Given the description of an element on the screen output the (x, y) to click on. 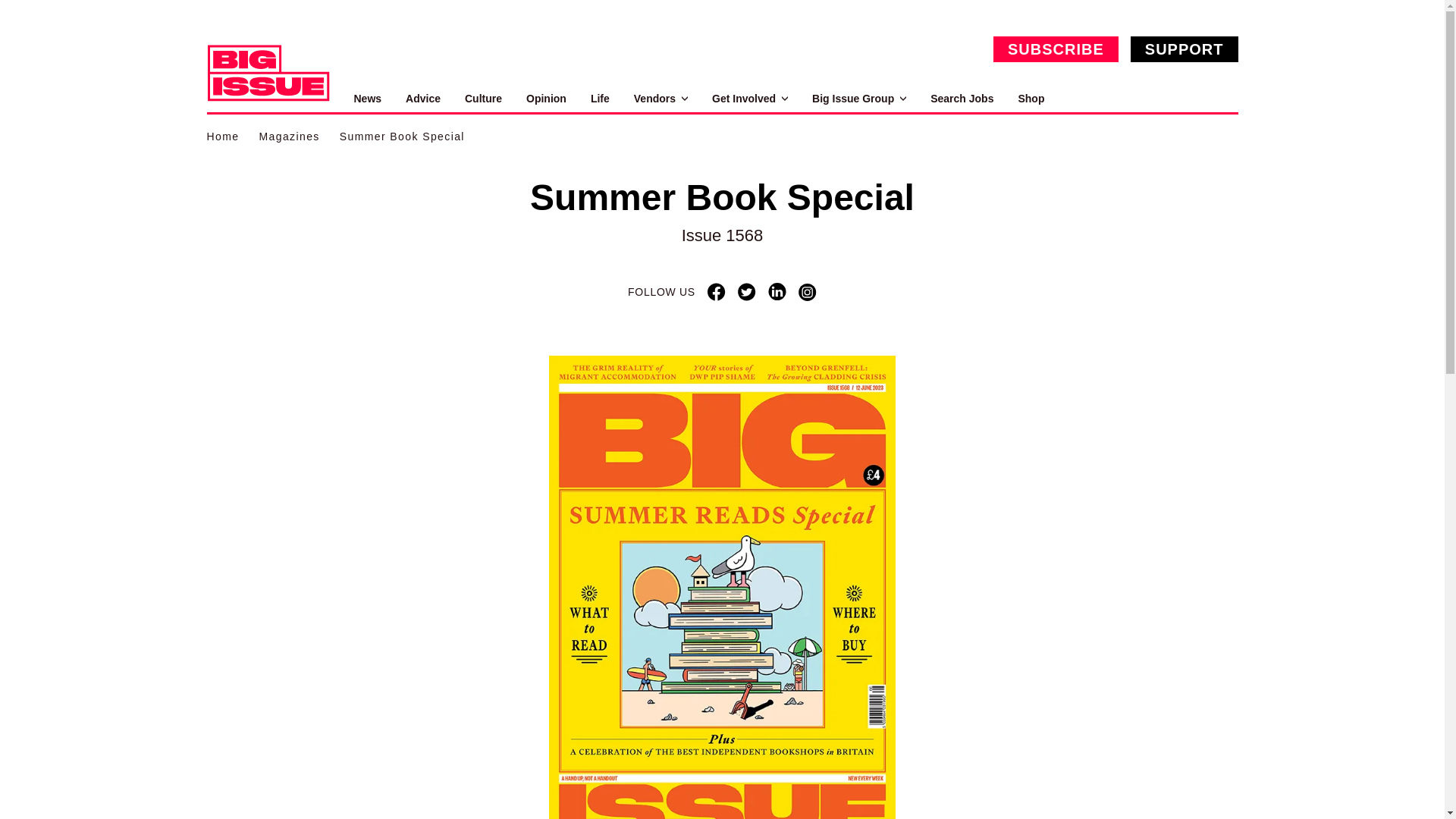
Big Issue Group (858, 98)
Opinion (545, 98)
SEARCH (1220, 98)
SUBSCRIBE (1055, 49)
Advice (423, 98)
Subscribe (1055, 49)
Vendors (660, 98)
Get Involved (749, 98)
Search Jobs (961, 98)
Home (222, 136)
